Given the description of an element on the screen output the (x, y) to click on. 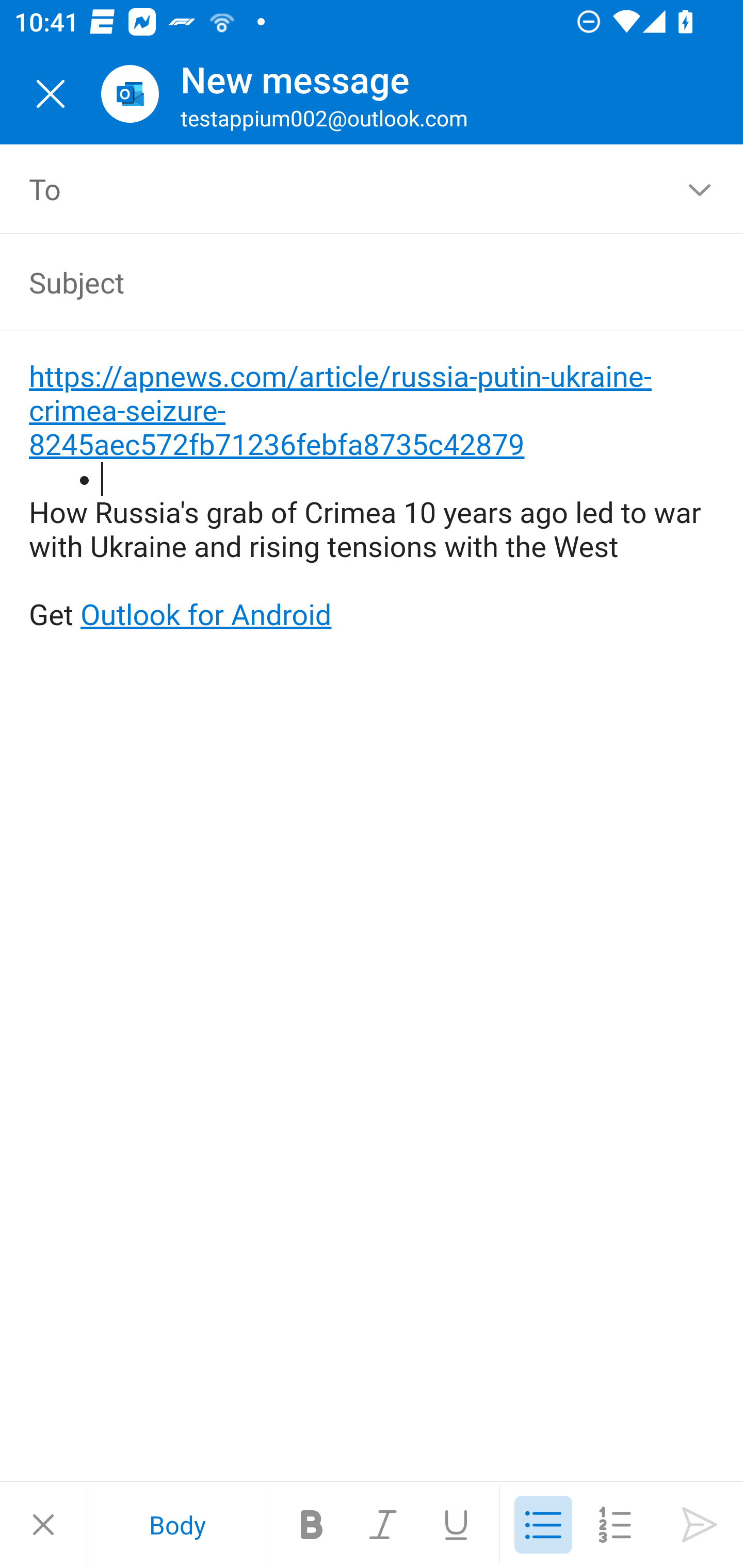
Close (50, 93)
Subject (342, 281)
Close (43, 1524)
Send (699, 1524)
Font style button body Body (176, 1524)
Bold (311, 1524)
Italics (384, 1524)
Underline (456, 1524)
Bulleted list (543, 1524)
Numbered list (615, 1524)
